Given the description of an element on the screen output the (x, y) to click on. 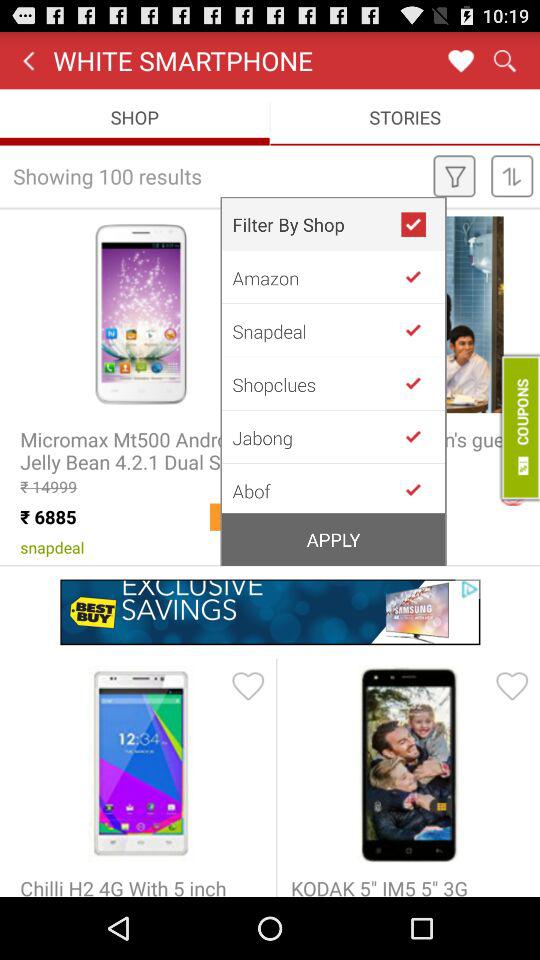
snapdeal selected (421, 330)
